Given the description of an element on the screen output the (x, y) to click on. 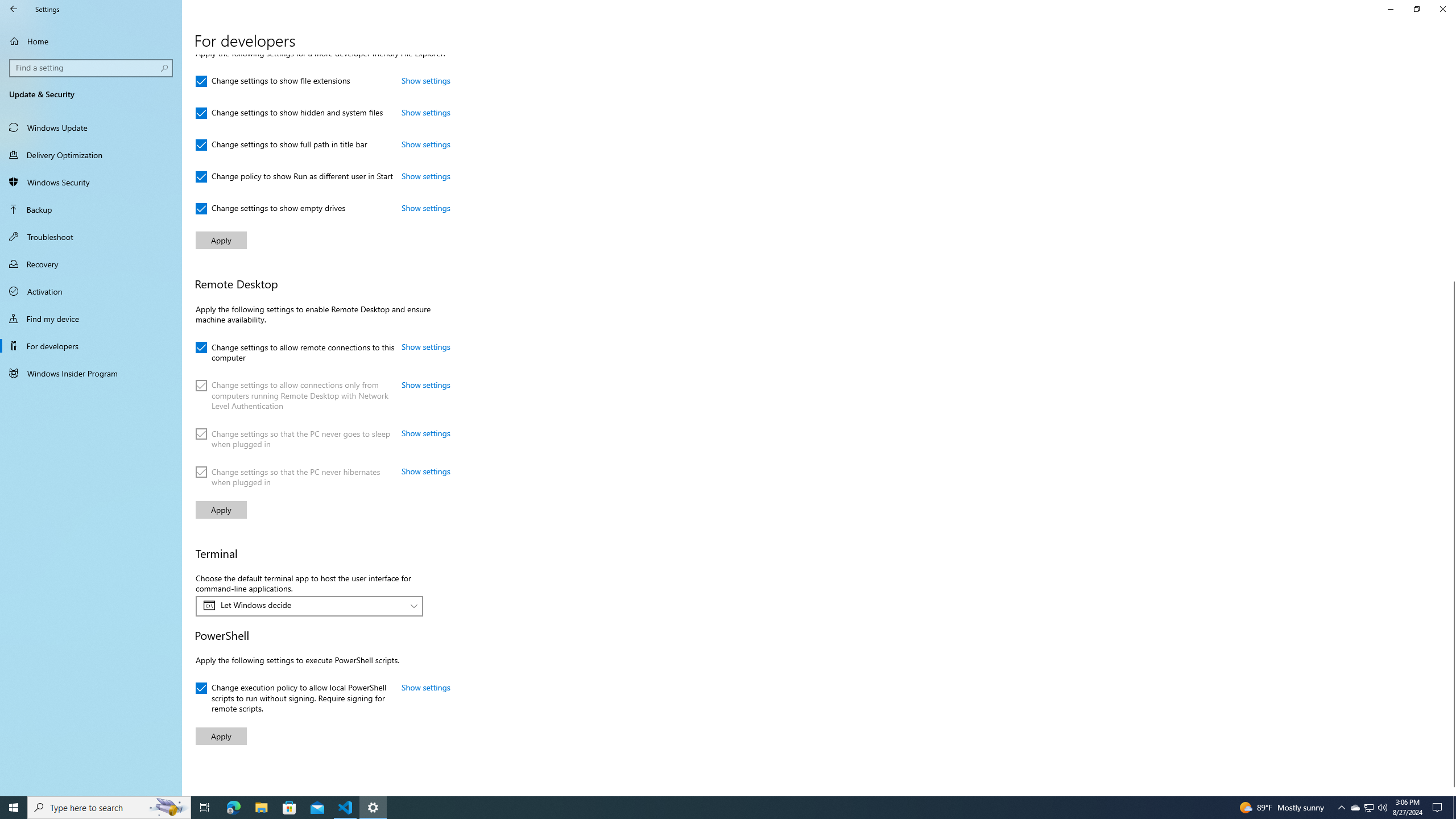
Minimize Settings (1390, 9)
